Given the description of an element on the screen output the (x, y) to click on. 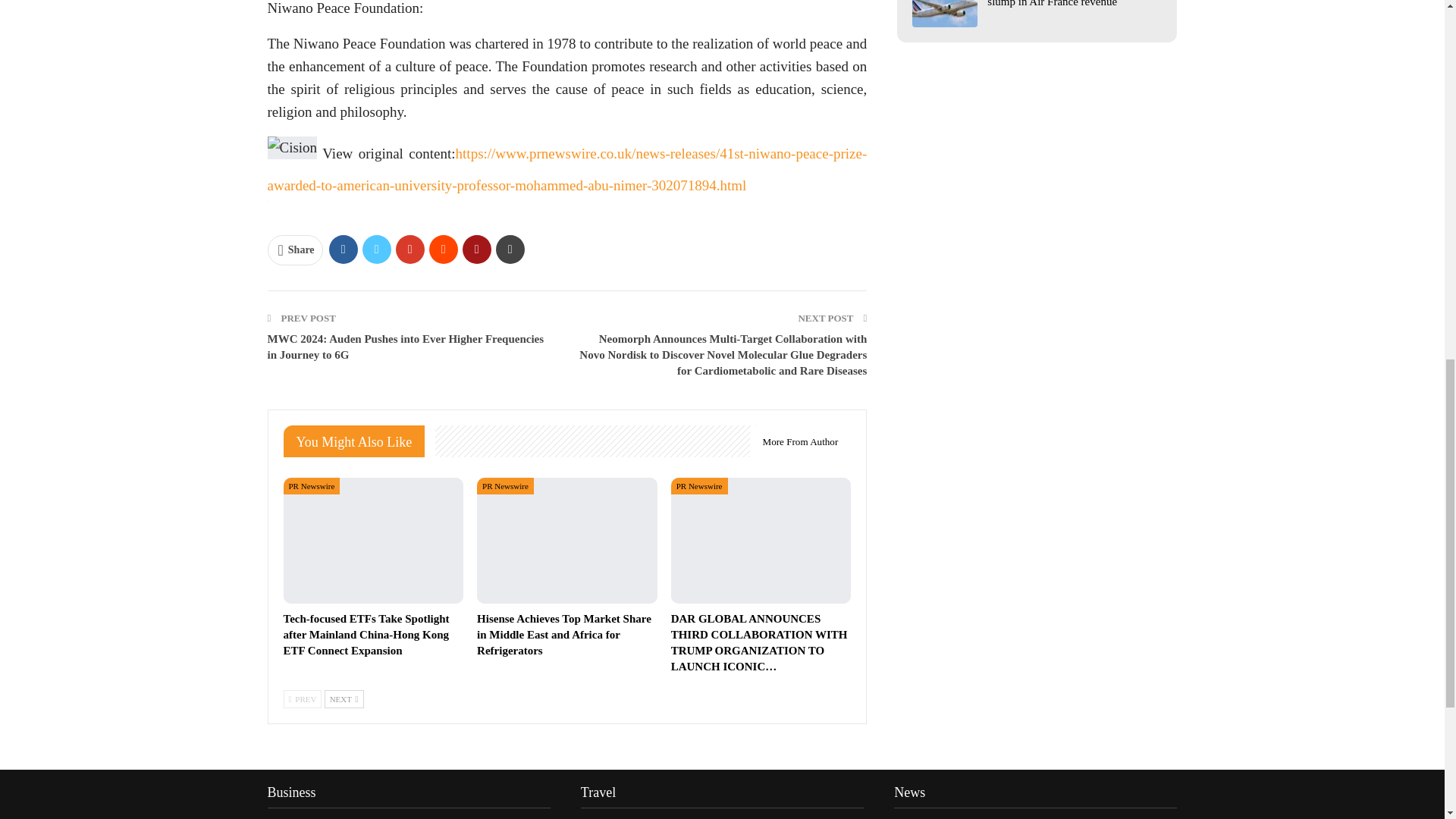
Cision (291, 147)
Next (344, 699)
Previous (302, 699)
